Given the description of an element on the screen output the (x, y) to click on. 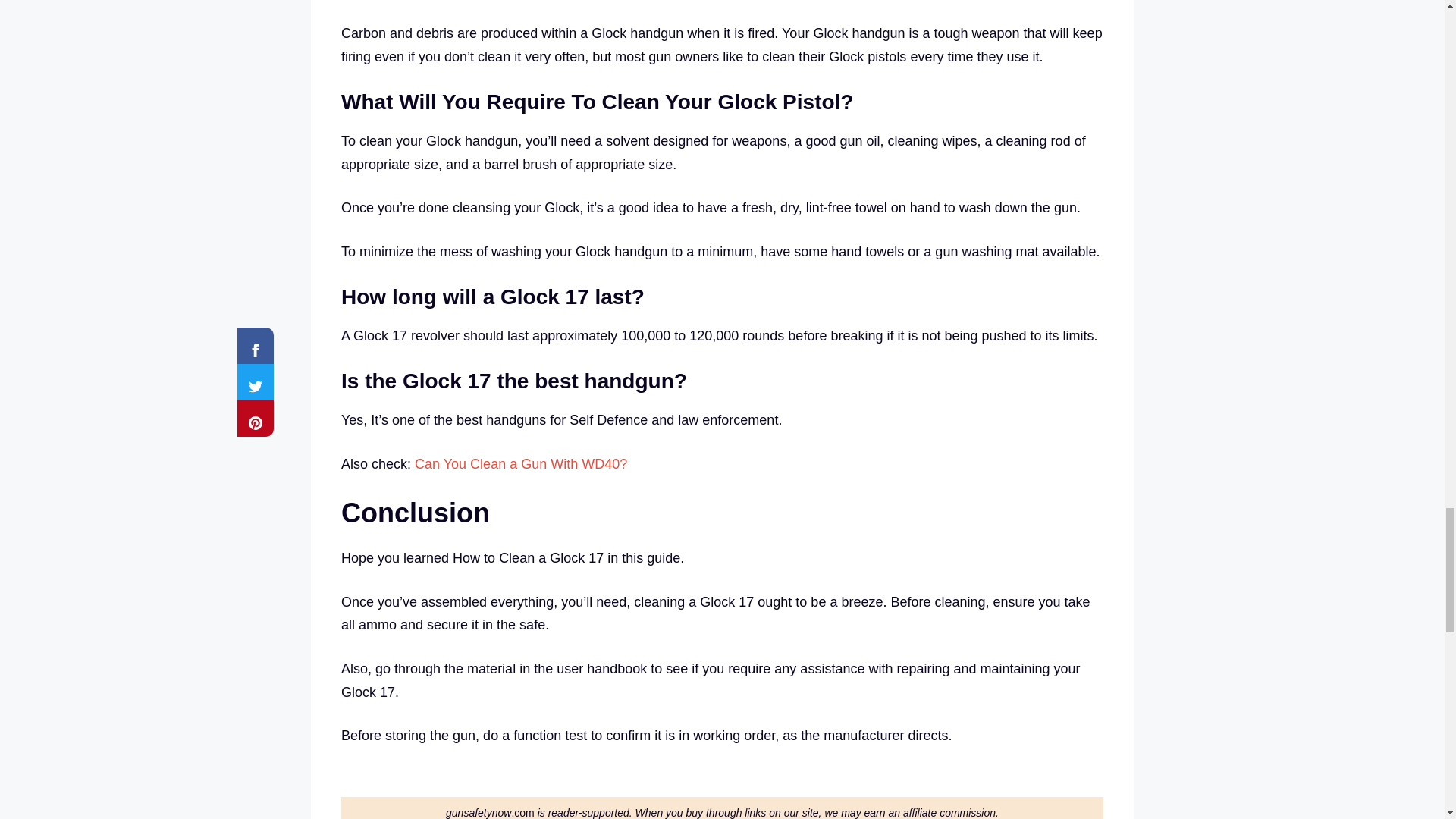
Can You Clean a Gun With WD40? (520, 463)
